Given the description of an element on the screen output the (x, y) to click on. 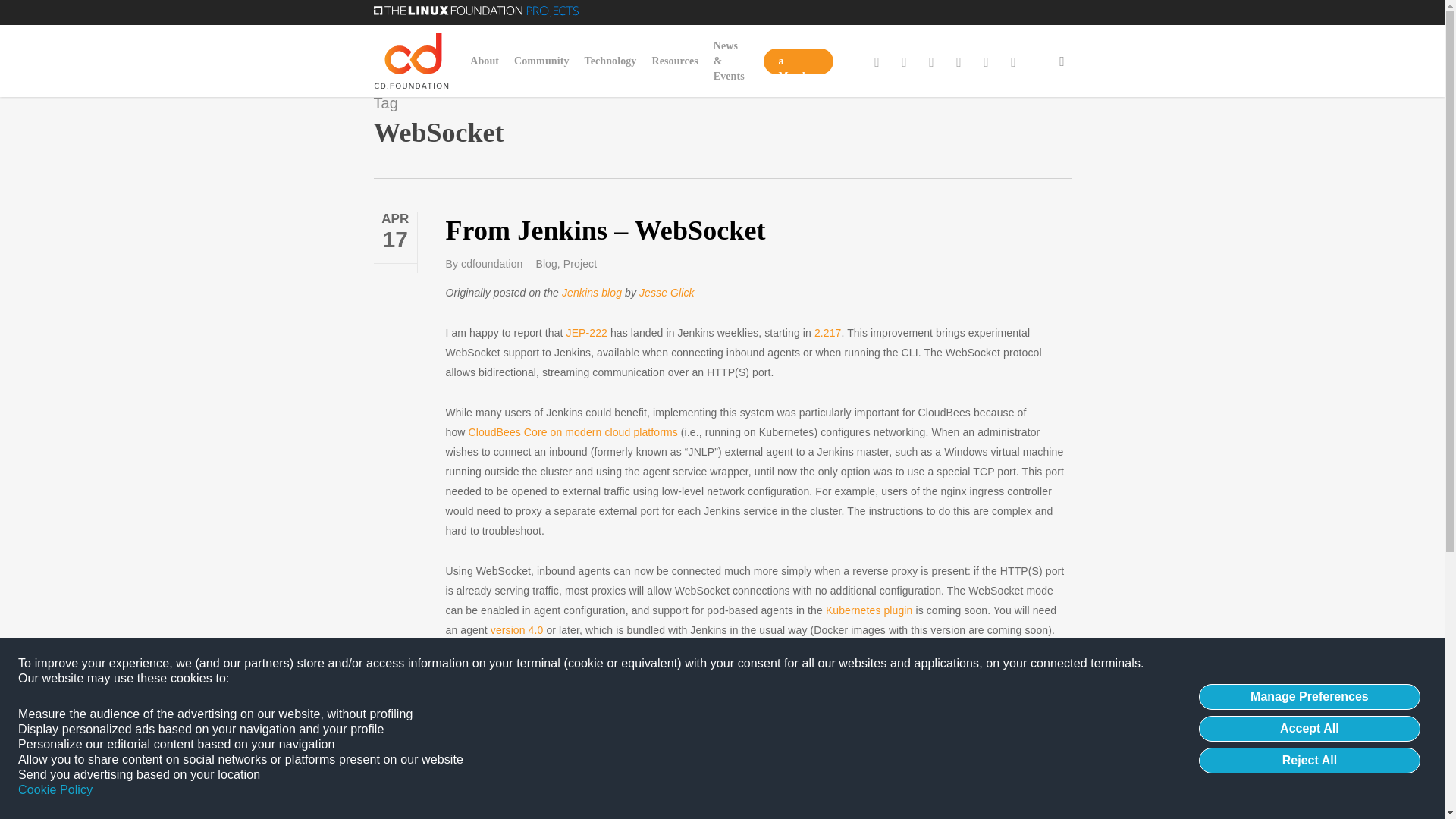
Community (541, 60)
Accept All (1309, 728)
About (484, 60)
Manage Preferences (1309, 696)
Cookie Policy (55, 789)
Resources (673, 60)
Technology (610, 60)
Reject All (1309, 760)
Posts by cdfoundation (491, 263)
